Given the description of an element on the screen output the (x, y) to click on. 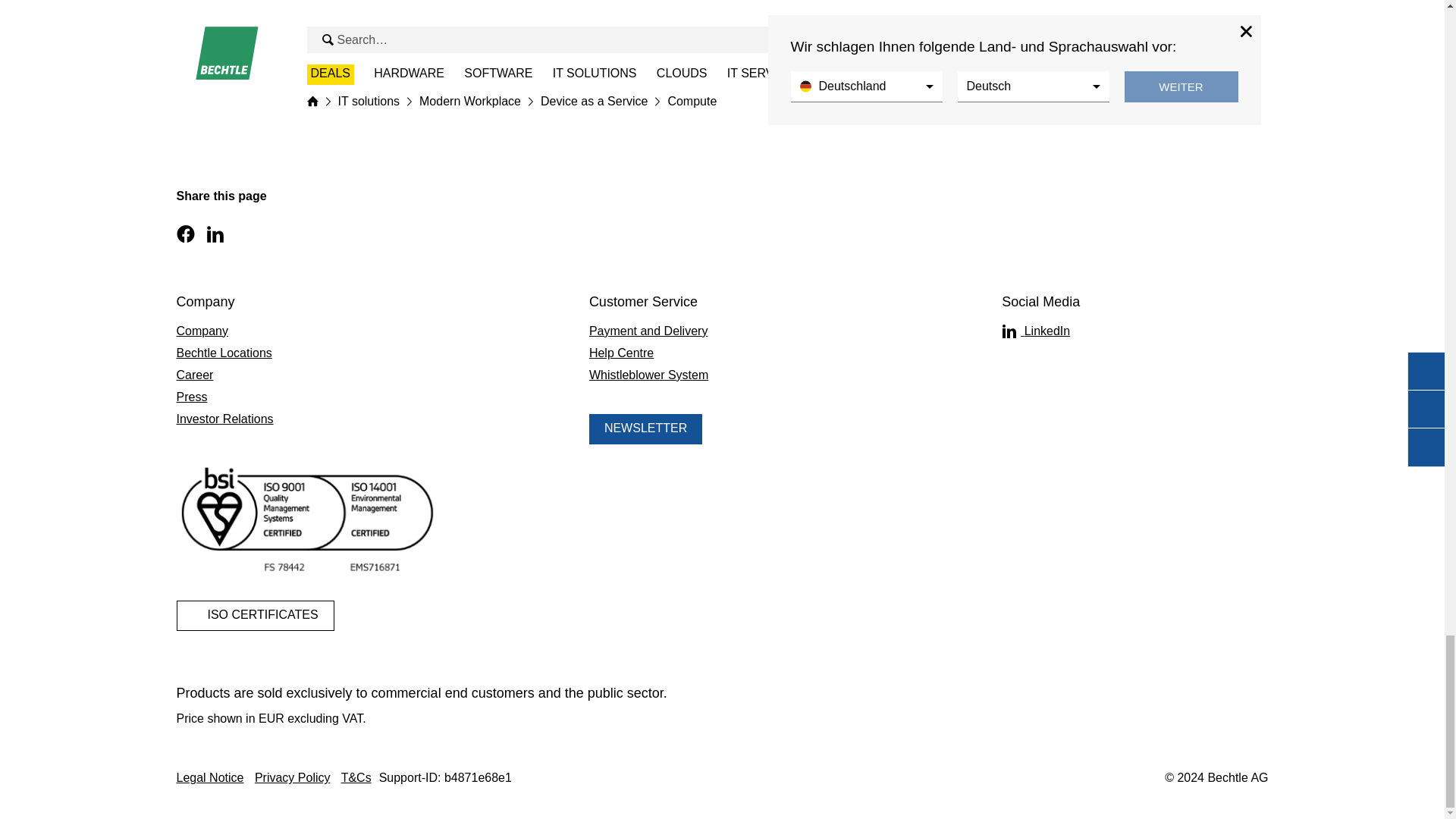
LinkedIn (1132, 331)
ISO Certificate (254, 615)
Privacy Policy (292, 777)
Copyright (1216, 777)
Legal Notice (209, 777)
